Given the description of an element on the screen output the (x, y) to click on. 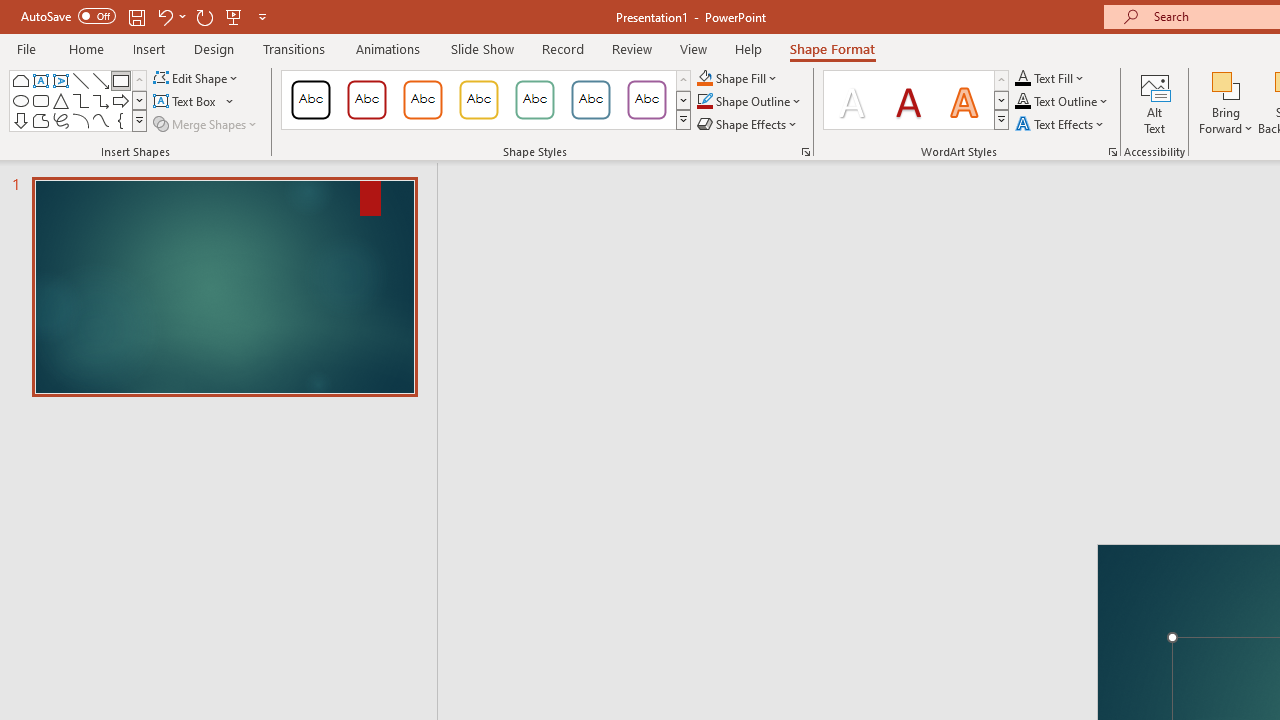
Insert (149, 48)
Text Fill RGB(0, 0, 0) (1023, 78)
Class: NetUIImage (1002, 119)
Text Box (40, 80)
